Given the description of an element on the screen output the (x, y) to click on. 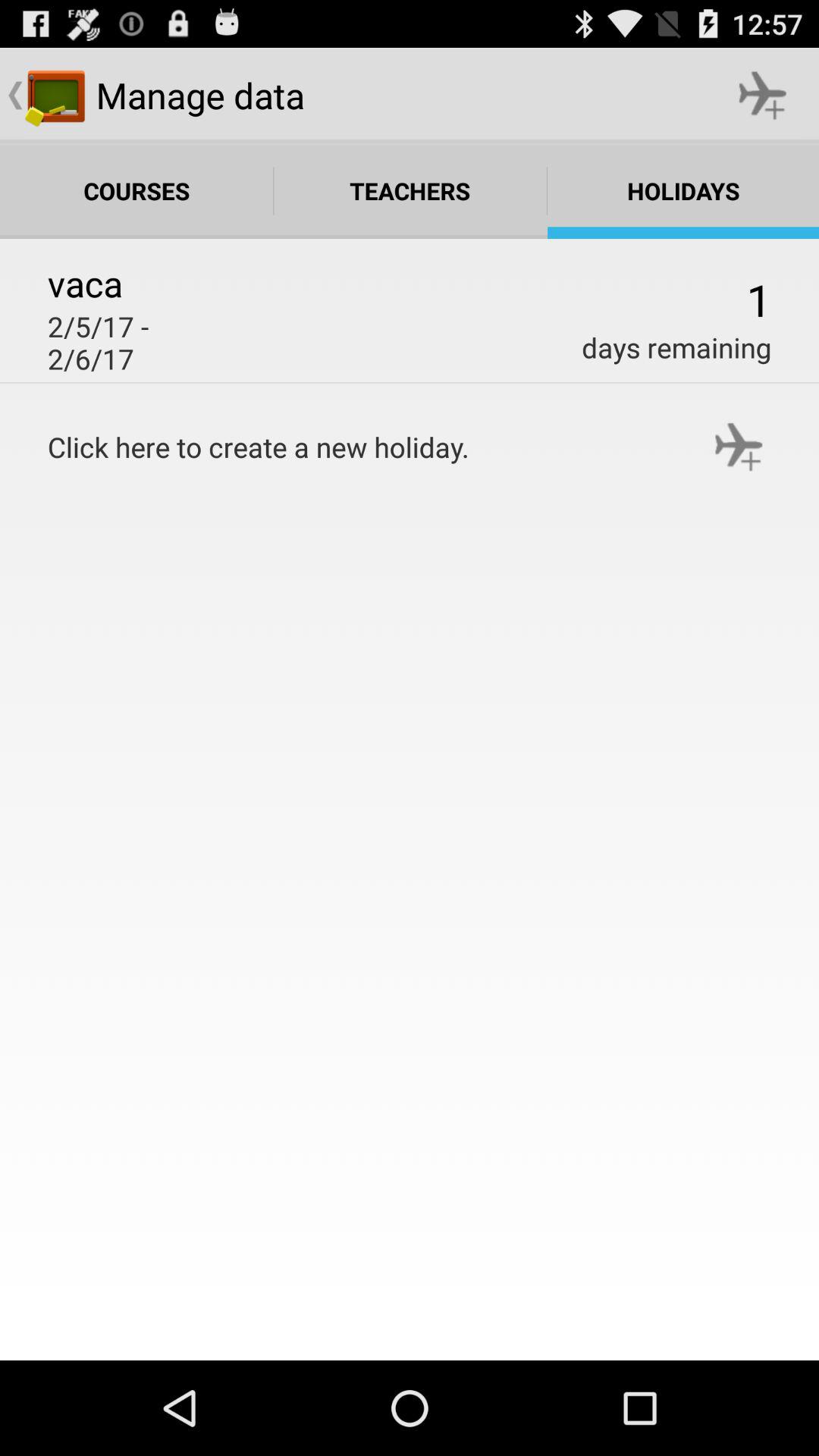
choose the item to the right of manage data app (763, 95)
